Given the description of an element on the screen output the (x, y) to click on. 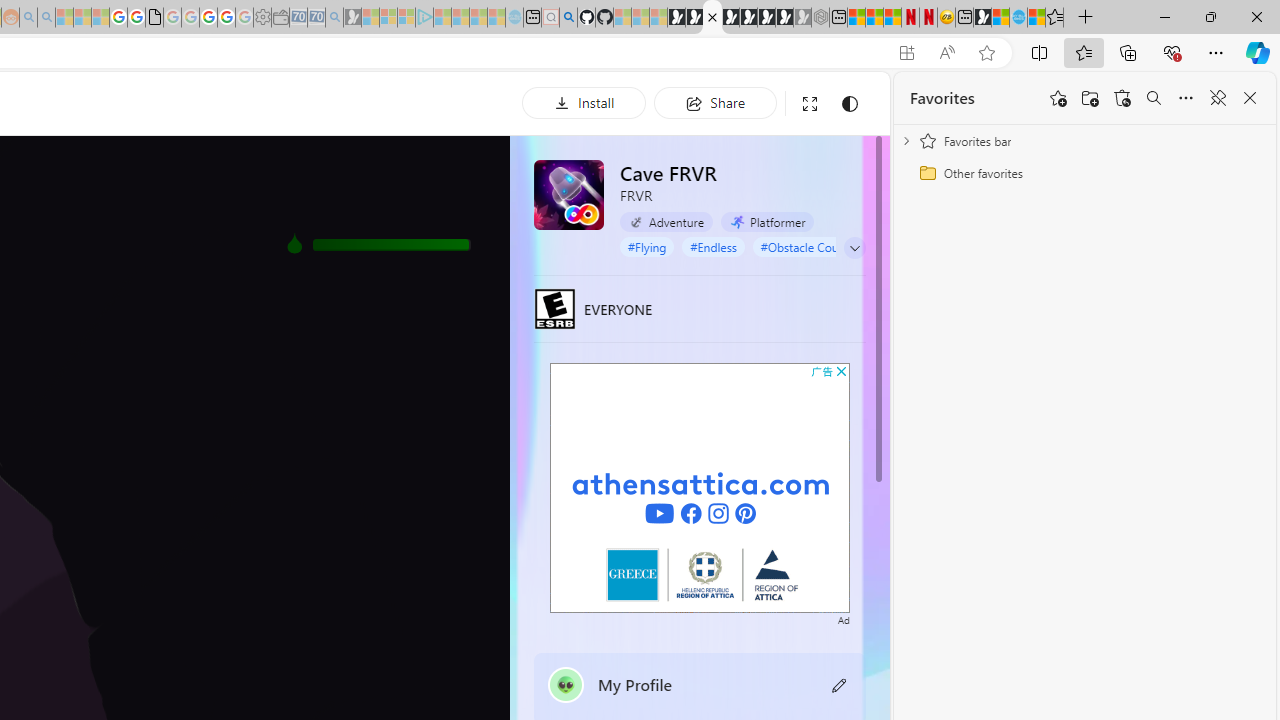
Adventure (665, 222)
Advertisement (699, 487)
Settings - Sleeping (262, 17)
Search favorites (1153, 98)
